Given the description of an element on the screen output the (x, y) to click on. 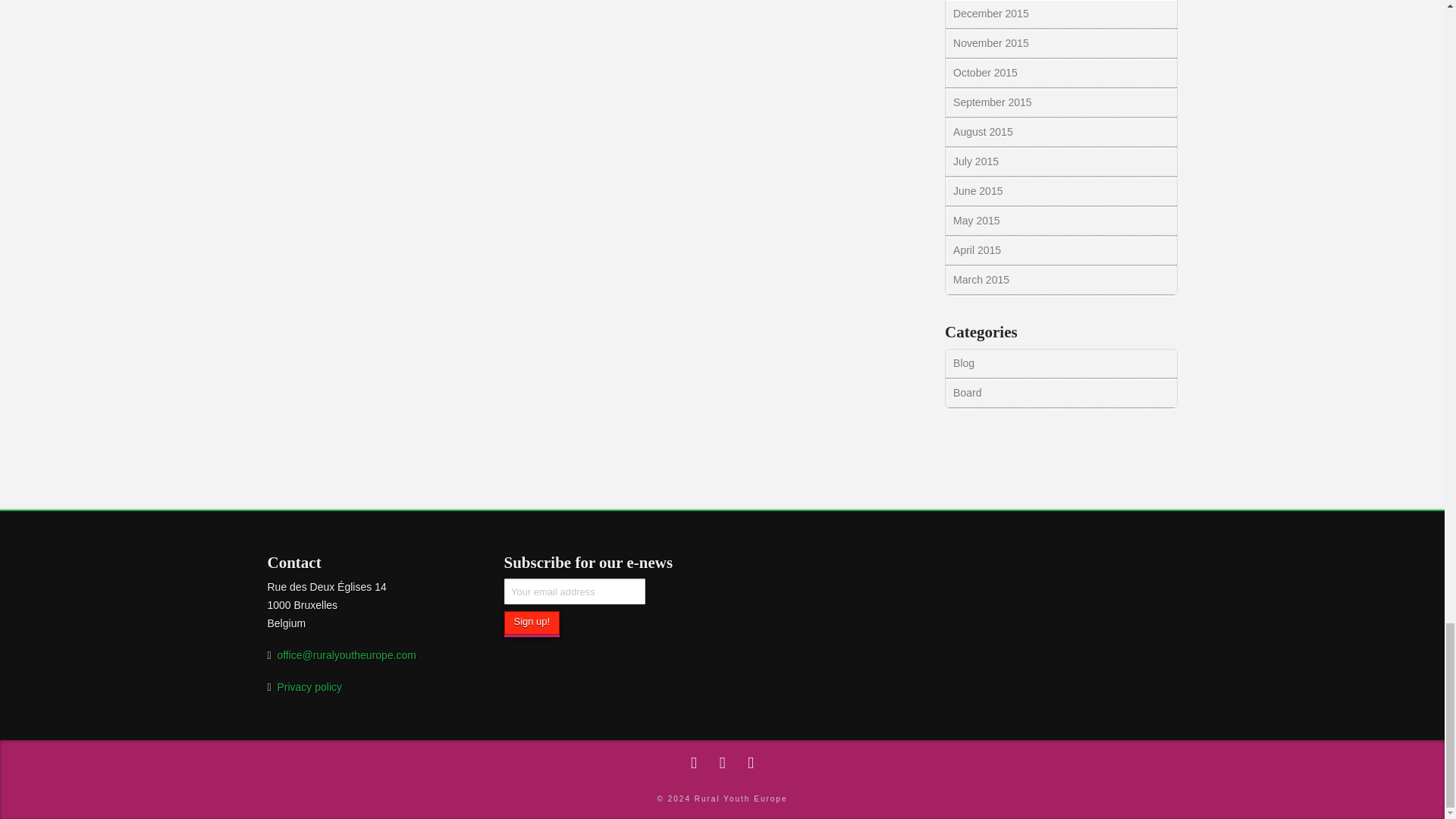
Facebook (693, 763)
Instagram (751, 763)
Twitter (722, 763)
